Given the description of an element on the screen output the (x, y) to click on. 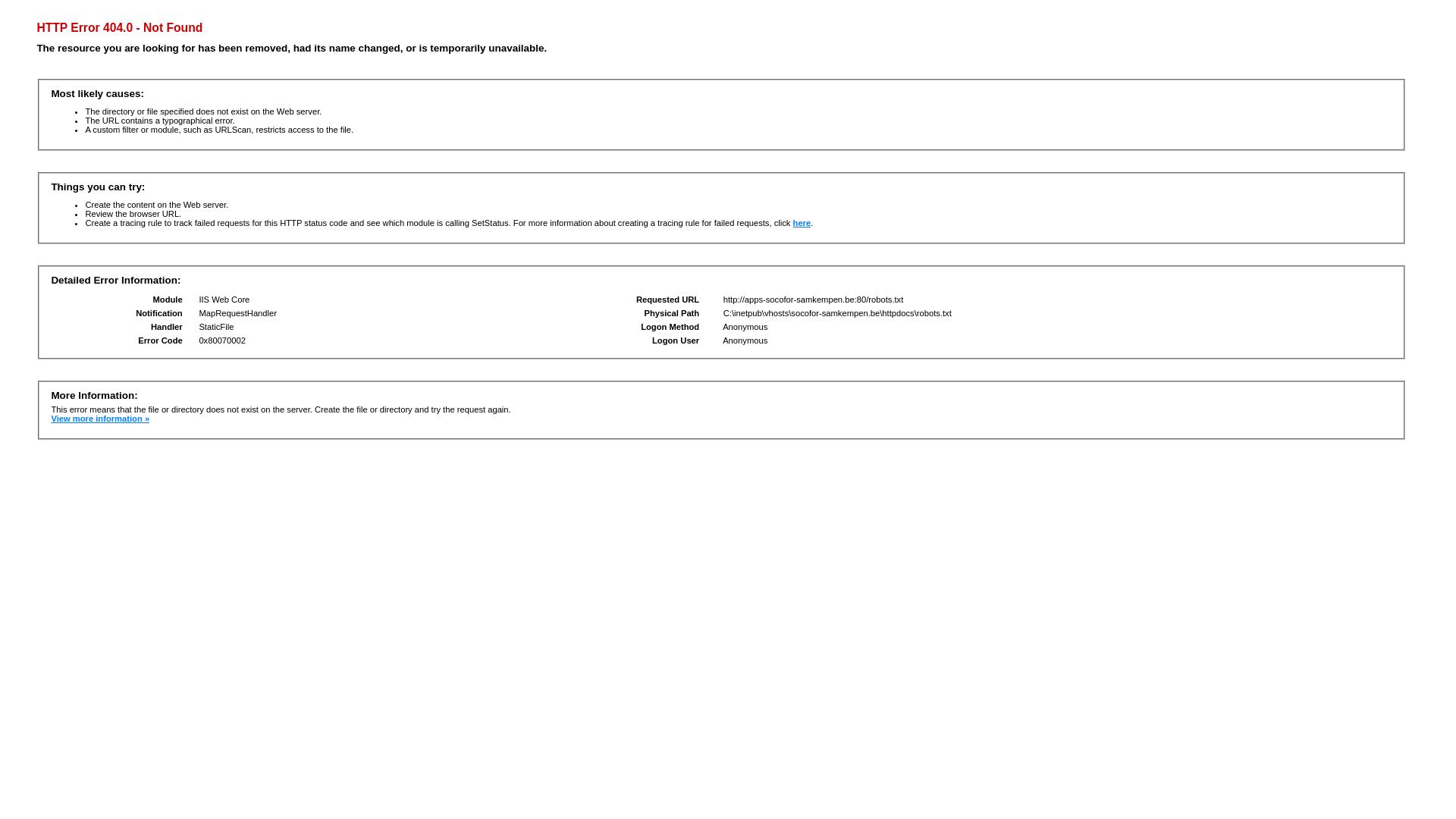
here Element type: text (802, 222)
